Given the description of an element on the screen output the (x, y) to click on. 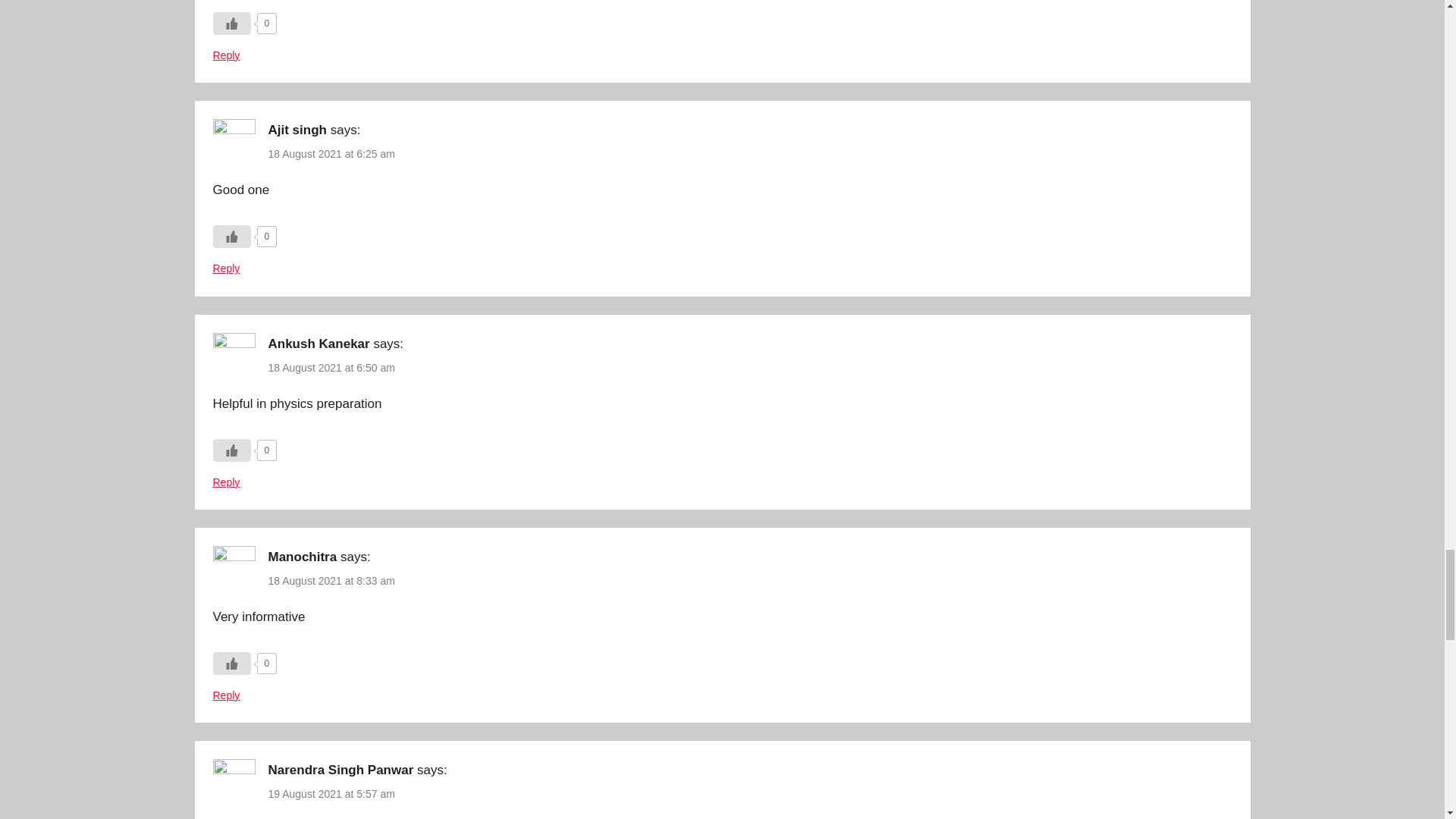
18 August 2021 at 8:33 am (330, 580)
Reply (226, 55)
18 August 2021 at 6:25 am (330, 153)
Reply (226, 481)
18 August 2021 at 6:50 am (330, 367)
Reply (226, 268)
